Given the description of an element on the screen output the (x, y) to click on. 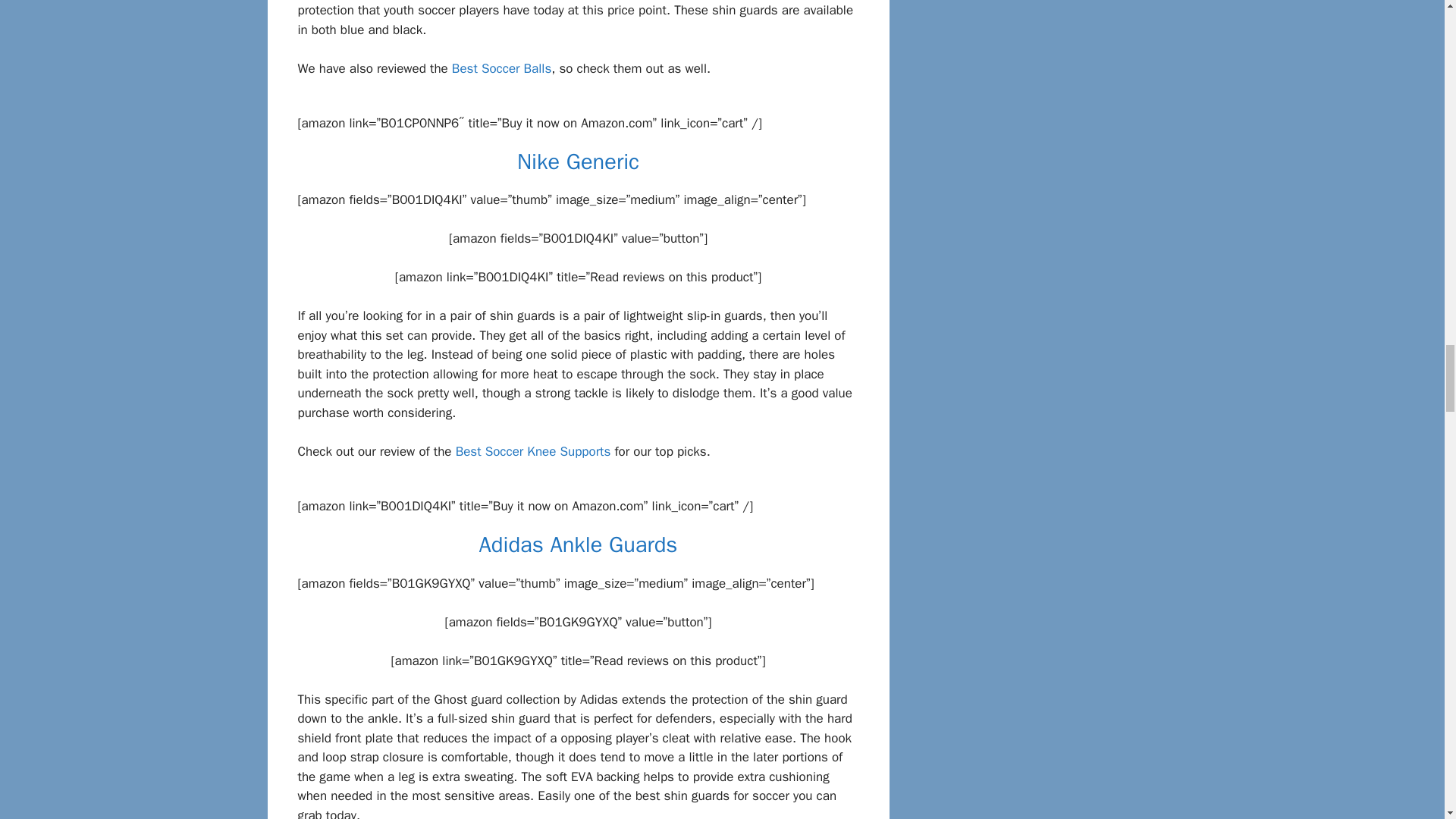
Best Soccer Knee Supports (533, 451)
Nike Generic (577, 162)
Adidas Ankle Guards (578, 544)
Best Soccer Balls (501, 68)
